Given the description of an element on the screen output the (x, y) to click on. 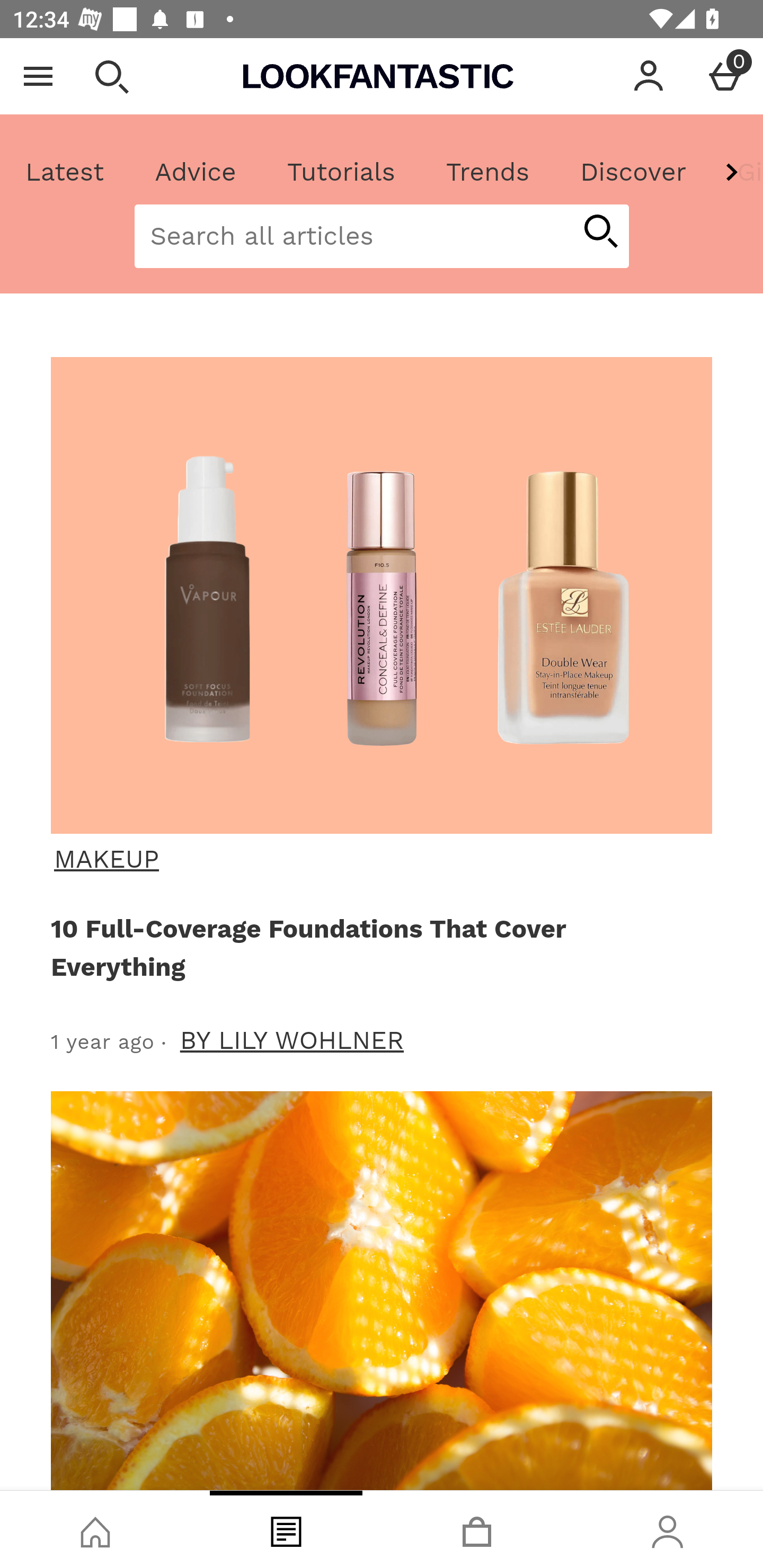
Open Menu (38, 75)
Open search (111, 75)
Account (648, 75)
Basket Menu (724, 75)
Lookfantastic USA Home page (378, 76)
Latest (65, 172)
Advice (195, 172)
Tutorials (340, 172)
Trends (486, 172)
Discover (632, 172)
Gift Guide (736, 172)
start article search (599, 232)
MAKEUP (379, 858)
10 Full-Coverage Foundations That Cover Everything (377, 947)
BY LILY WOHLNER (292, 1040)
Shop, tab, 1 of 4 (95, 1529)
Blog, tab, 2 of 4 (285, 1529)
Basket, tab, 3 of 4 (476, 1529)
Account, tab, 4 of 4 (667, 1529)
